Given the description of an element on the screen output the (x, y) to click on. 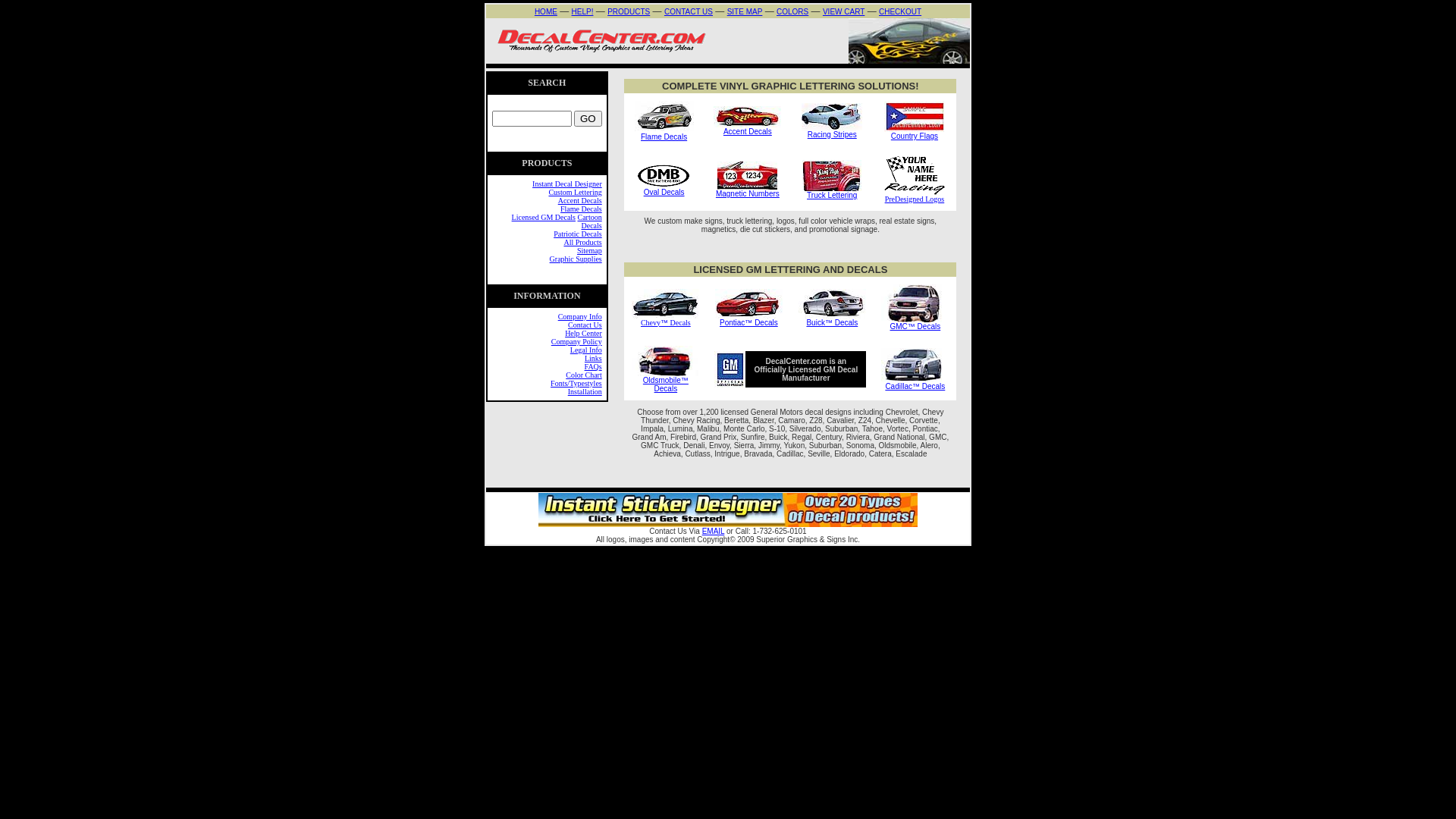
Chevy Element type: text (650, 322)
Truck Lettering Element type: text (831, 195)
PreDesigned Logos Element type: text (914, 198)
Racing Stripes Element type: text (831, 134)
Contact Us Element type: text (584, 324)
Flame Decals Element type: text (581, 208)
Licensed GM Decals Element type: text (543, 217)
Instant Decal Designer Element type: text (567, 183)
Installation Element type: text (584, 391)
SITE MAP Element type: text (744, 11)
Color Chart Element type: text (583, 374)
Accent Decals Element type: text (580, 200)
Magnetic Numbers Element type: text (747, 193)
Company Policy Element type: text (576, 341)
COLORS Element type: text (792, 11)
Cartoon Decals Element type: text (589, 221)
Legal Info Element type: text (586, 349)
CONTACT US Element type: text (688, 11)
Country Flags Element type: text (914, 135)
Oval Decals Element type: text (663, 192)
HELP! Element type: text (582, 11)
VIEW CART Element type: text (843, 11)
FAQs Element type: text (593, 366)
Accent Decals Element type: text (747, 131)
Company Info Element type: text (580, 315)
EMAIL Element type: text (713, 531)
CHECKOUT Element type: text (899, 11)
Fonts/Typestyles Element type: text (576, 383)
PRODUCTS Element type: text (628, 11)
Custom Lettering Element type: text (574, 192)
GO Element type: text (588, 118)
HOME Element type: text (545, 11)
All Products Element type: text (582, 242)
Flame Decals Element type: text (663, 136)
Help Center Element type: text (583, 333)
Sitemap Element type: text (589, 250)
Links Element type: text (593, 358)
Patriotic Decals Element type: text (577, 233)
Decals Element type: text (679, 322)
Graphic Supplies Element type: text (575, 258)
